Given the description of an element on the screen output the (x, y) to click on. 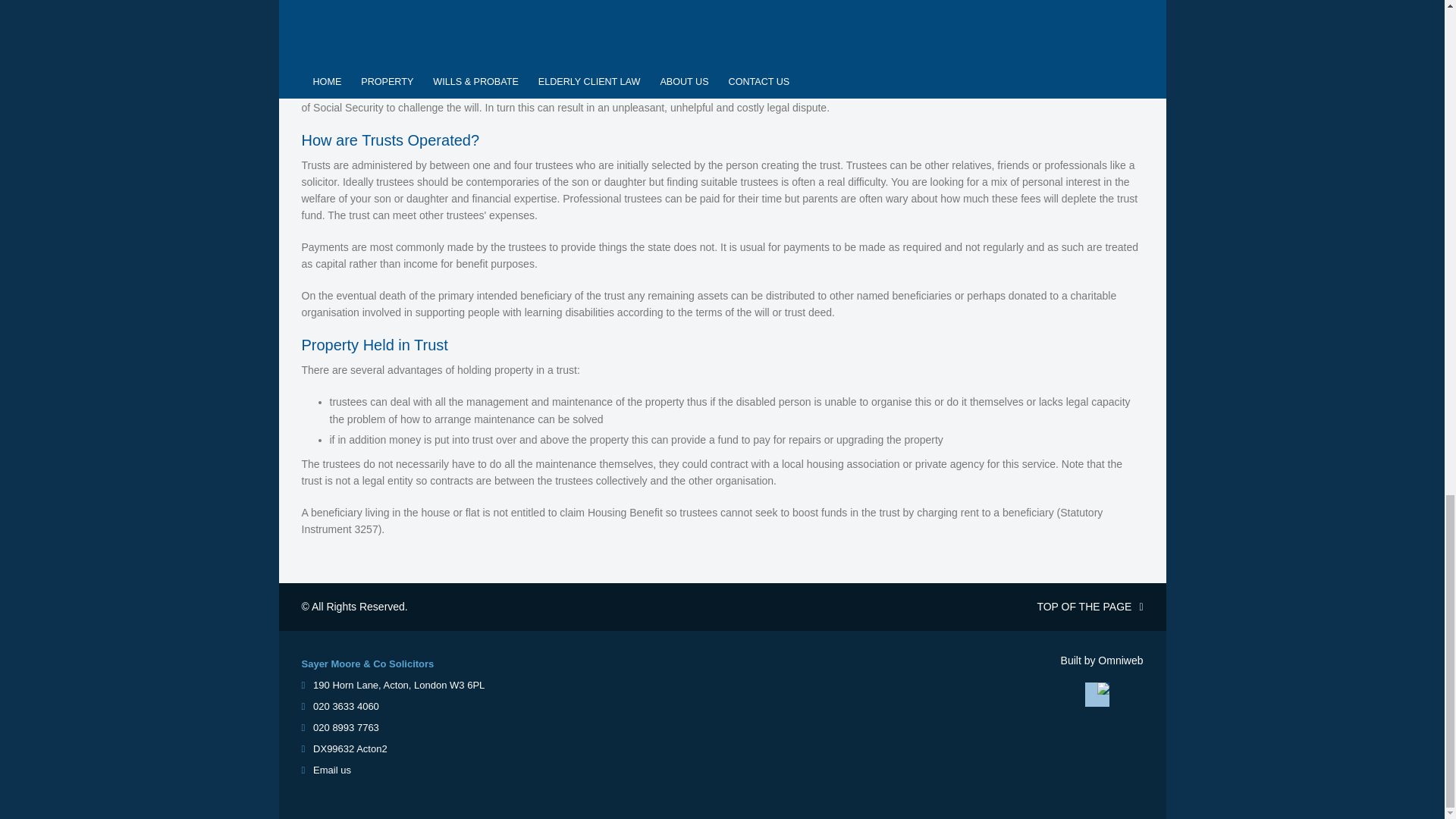
TOP OF THE PAGE (1054, 606)
Email us (331, 769)
Built by Omniweb (1101, 660)
